Given the description of an element on the screen output the (x, y) to click on. 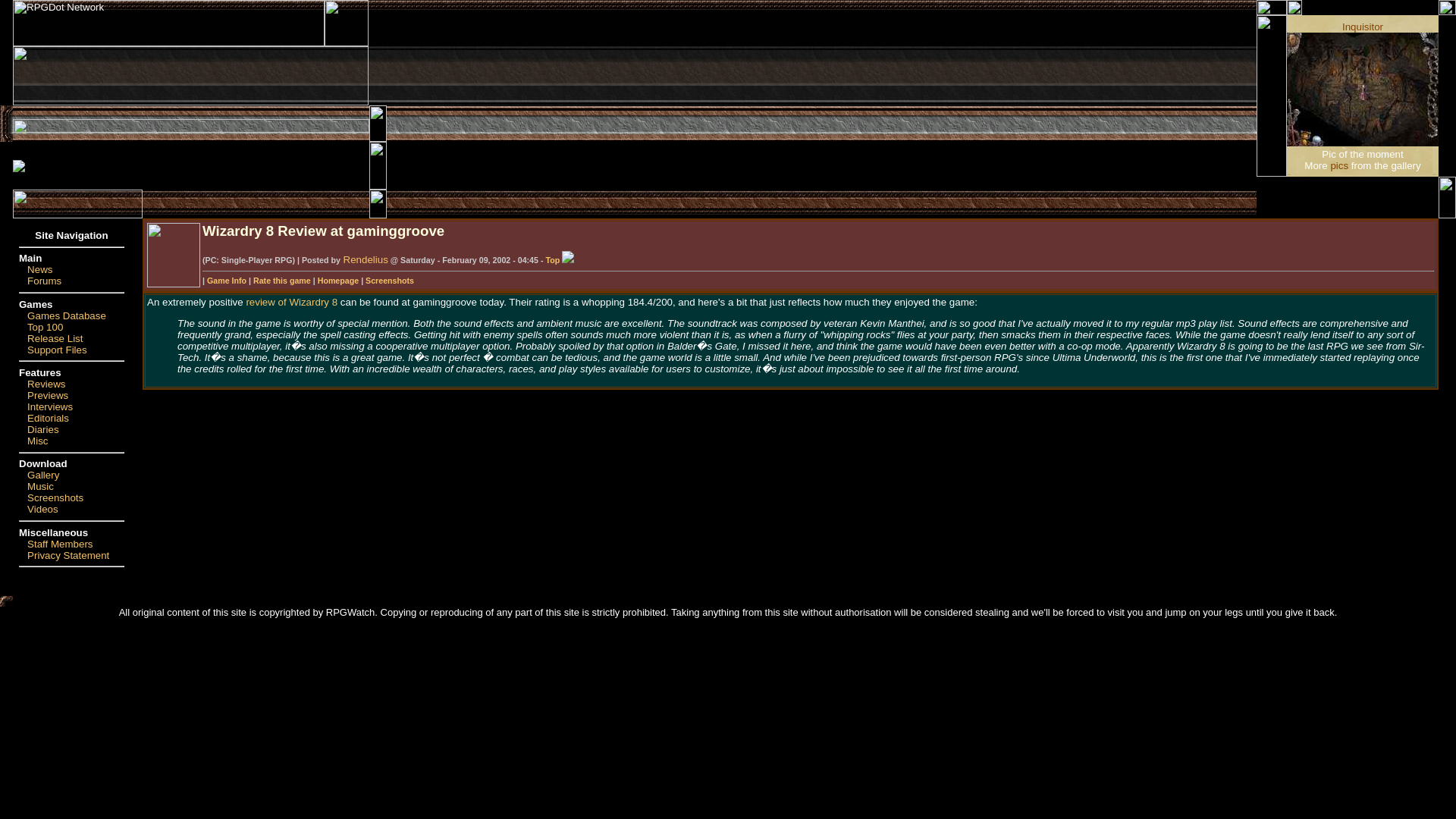
Diaries (42, 429)
Top 100 (44, 326)
Videos (42, 509)
Privacy Statement (68, 555)
News (39, 269)
Homepage (337, 280)
Forums (44, 280)
Interviews (49, 406)
Screenshots (389, 280)
Games Database (66, 315)
